Given the description of an element on the screen output the (x, y) to click on. 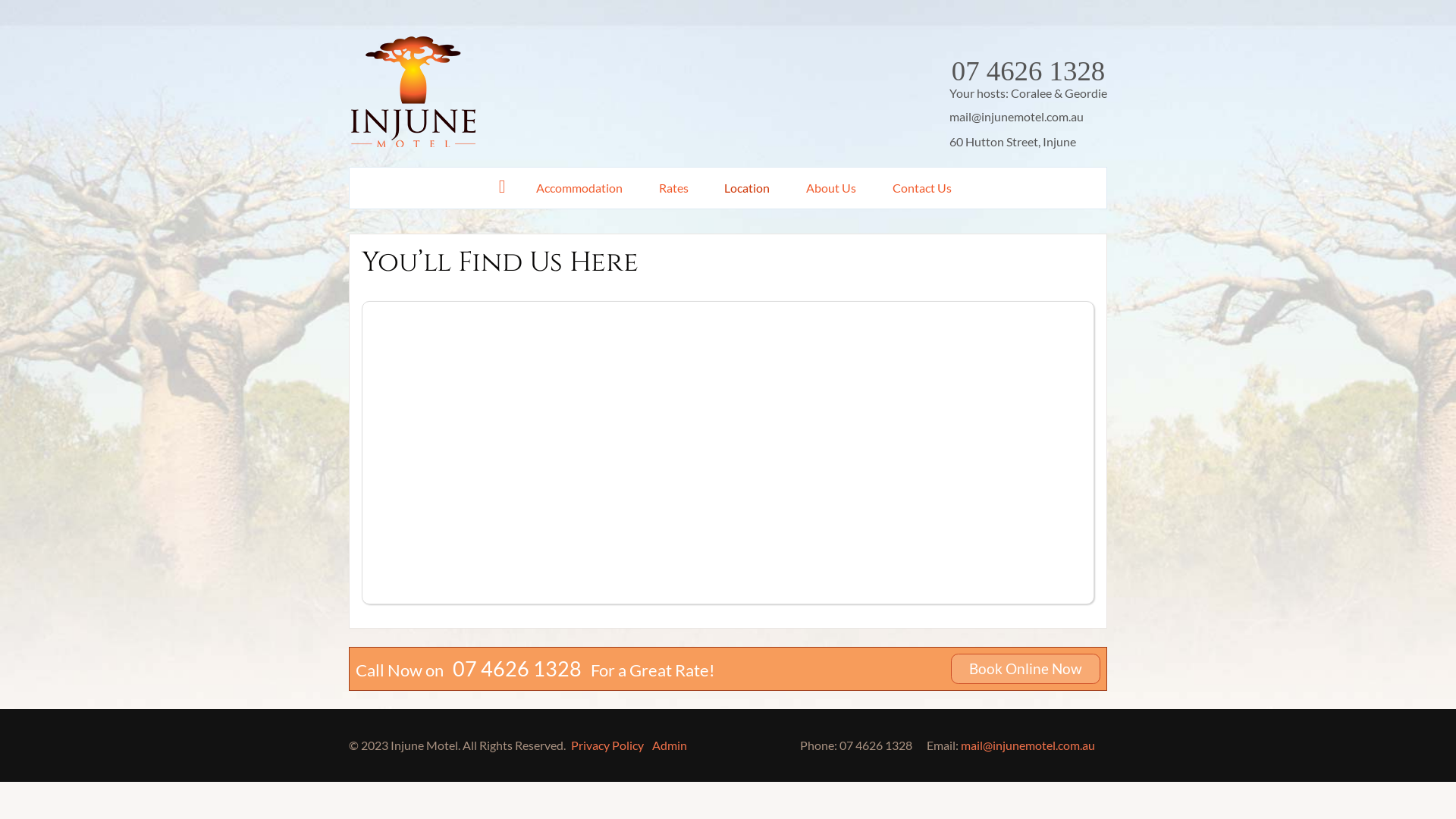
Book Online Now Element type: text (1025, 668)
Contact Us Element type: text (922, 187)
Home Element type: text (502, 186)
Admin Element type: text (669, 745)
Location Element type: text (747, 187)
Accommodation Element type: text (578, 187)
About Us Element type: text (831, 187)
Rates Element type: text (673, 187)
60 Hutton Street, Injune Element type: text (1012, 141)
mail@injunemotel.com.au Element type: text (1016, 116)
Injune Motel Element type: hover (412, 144)
Privacy Policy Element type: text (606, 745)
07 4626 1328
Your hosts: Coralee & Geordie Element type: text (1028, 84)
mail@injunemotel.com.au Element type: text (1027, 744)
